Given the description of an element on the screen output the (x, y) to click on. 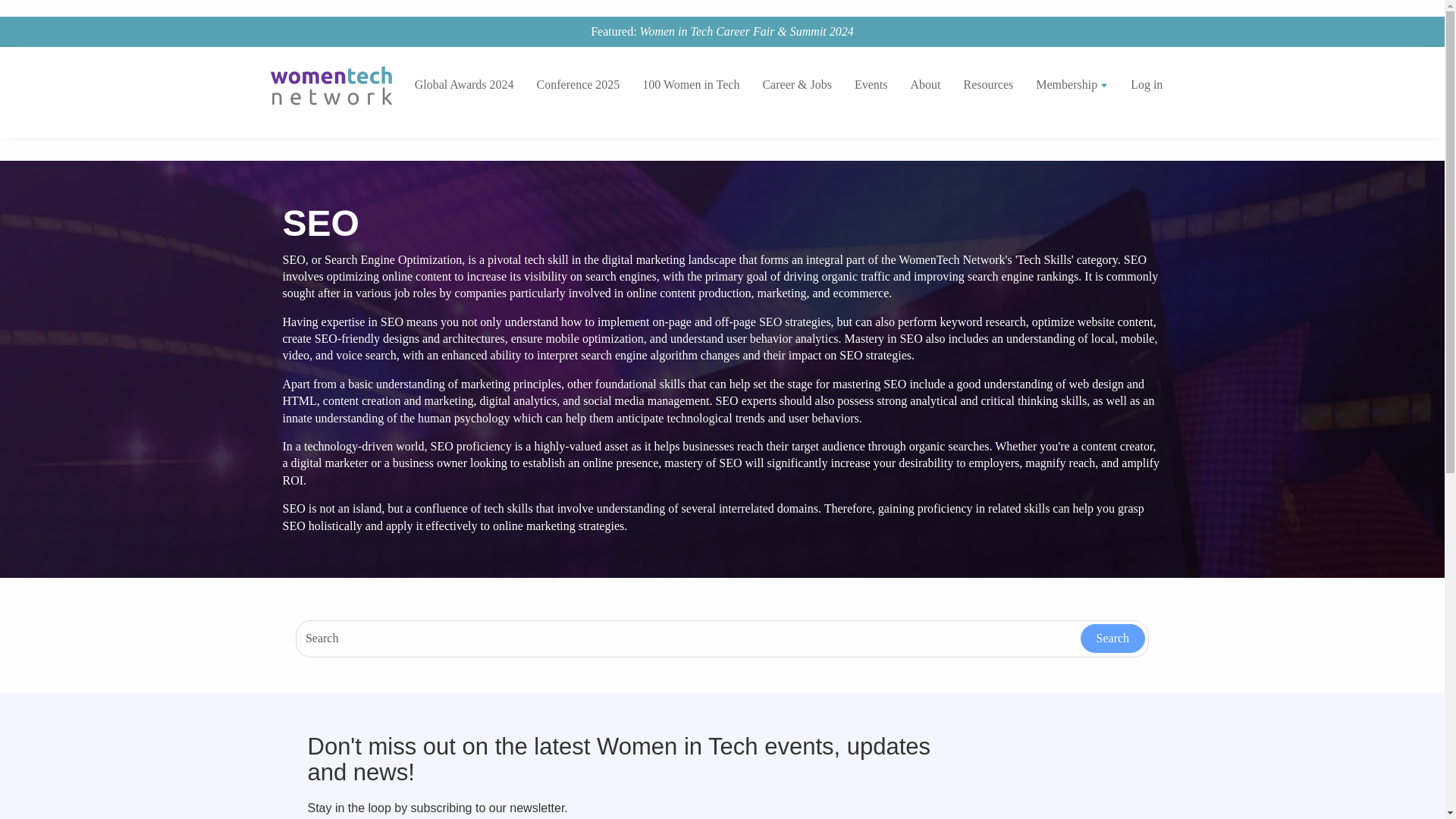
Conference 2025 (578, 84)
Home (336, 84)
Search (1112, 638)
100 Women in Tech (690, 84)
Global Awards 2024 (464, 84)
